Given the description of an element on the screen output the (x, y) to click on. 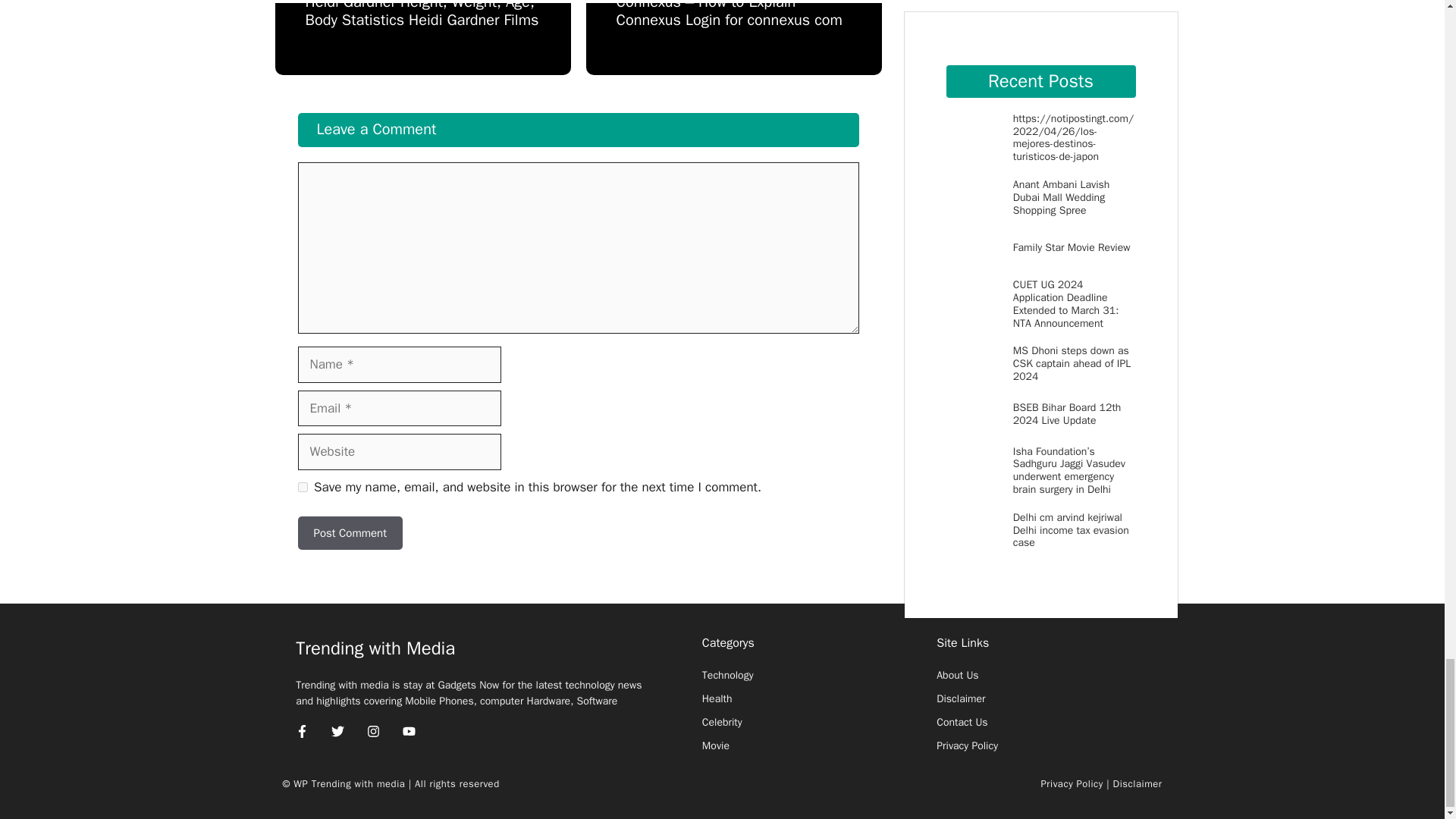
Post Comment (349, 533)
yes (302, 487)
Post Comment (349, 533)
